Given the description of an element on the screen output the (x, y) to click on. 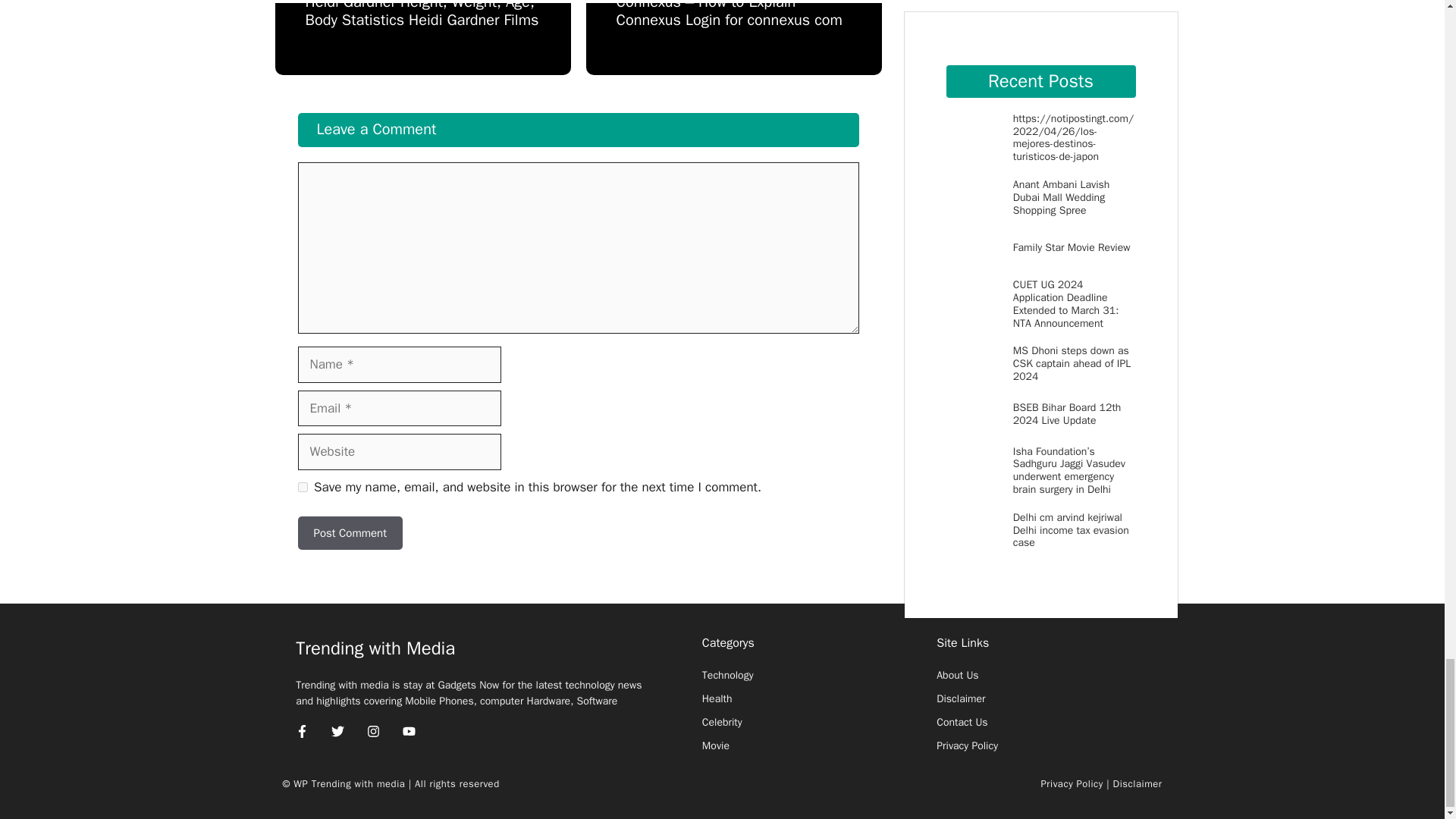
Post Comment (349, 533)
yes (302, 487)
Post Comment (349, 533)
